Given the description of an element on the screen output the (x, y) to click on. 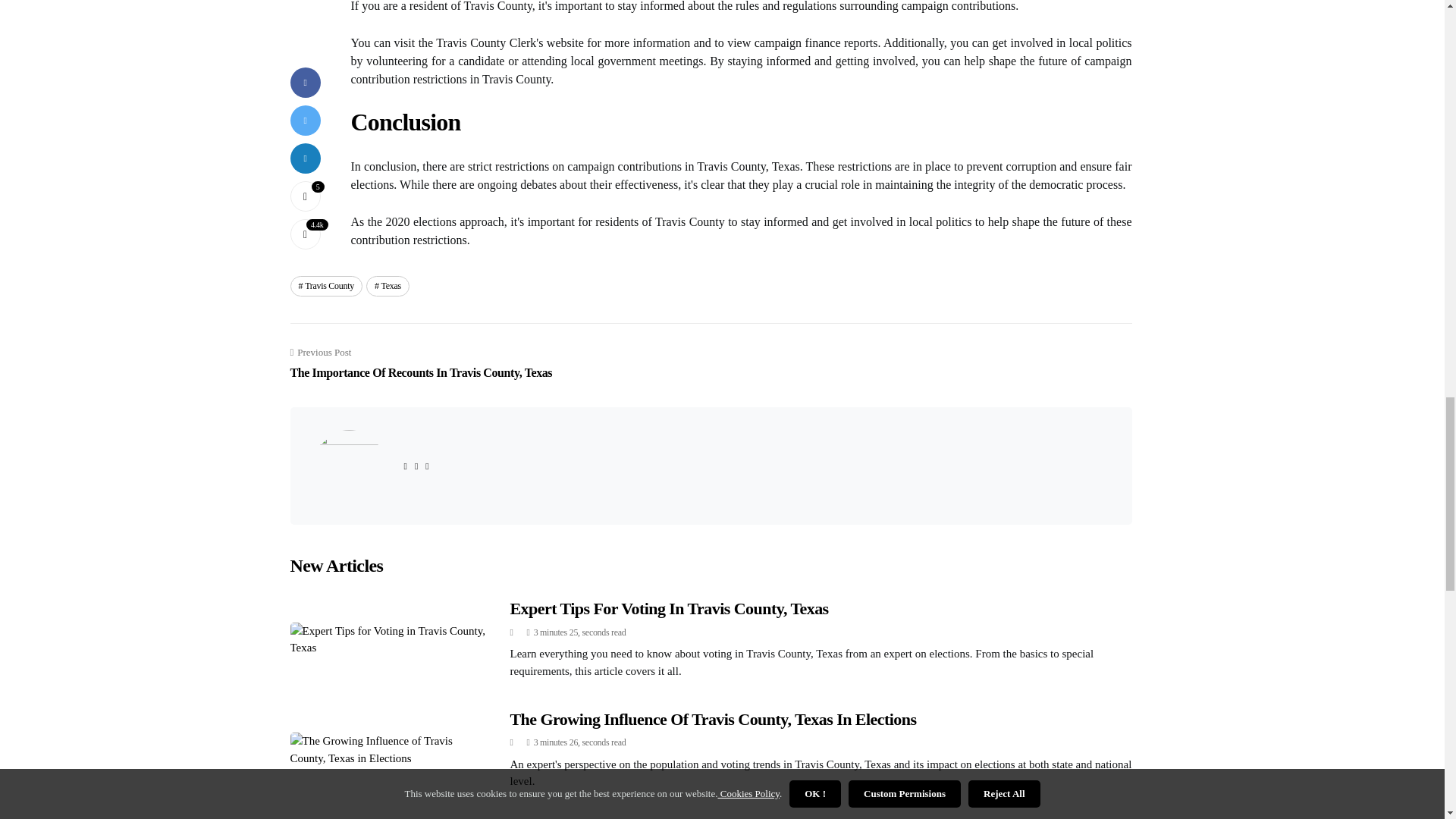
Expert Tips For Voting In Travis County, Texas (668, 608)
The Growing Influence Of Travis County, Texas In Elections (712, 719)
Texas (387, 285)
Travis County (325, 285)
